Given the description of an element on the screen output the (x, y) to click on. 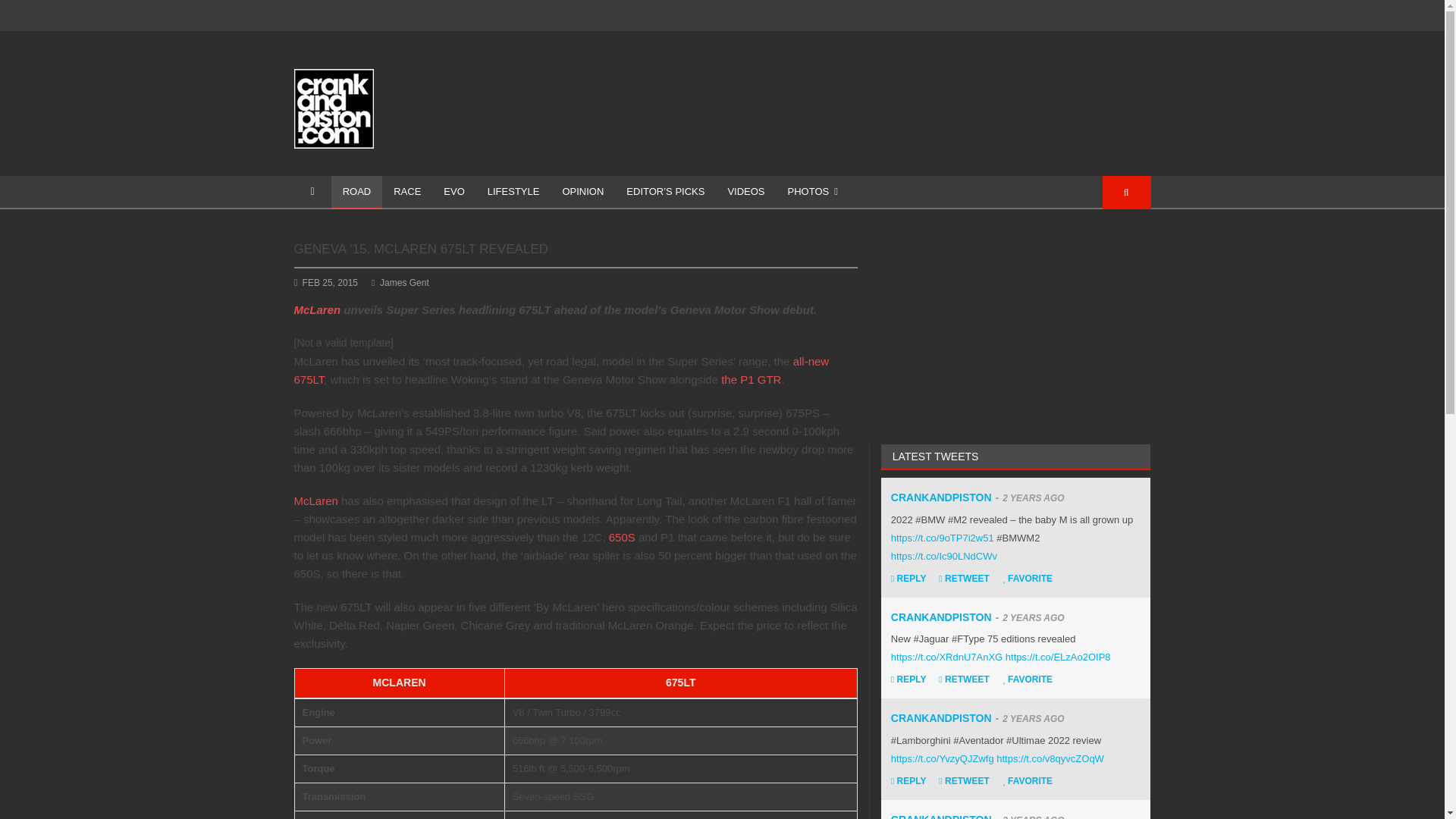
RACE (406, 192)
Wednesday, February 25, 2015, 5:00 pm (330, 282)
On The Road (356, 192)
the P1 GTR (750, 379)
650S (621, 536)
all-new 675LT (561, 369)
LIFESTYLE (513, 192)
McLaren (317, 309)
OPINION (582, 192)
McLaren (315, 500)
